Given the description of an element on the screen output the (x, y) to click on. 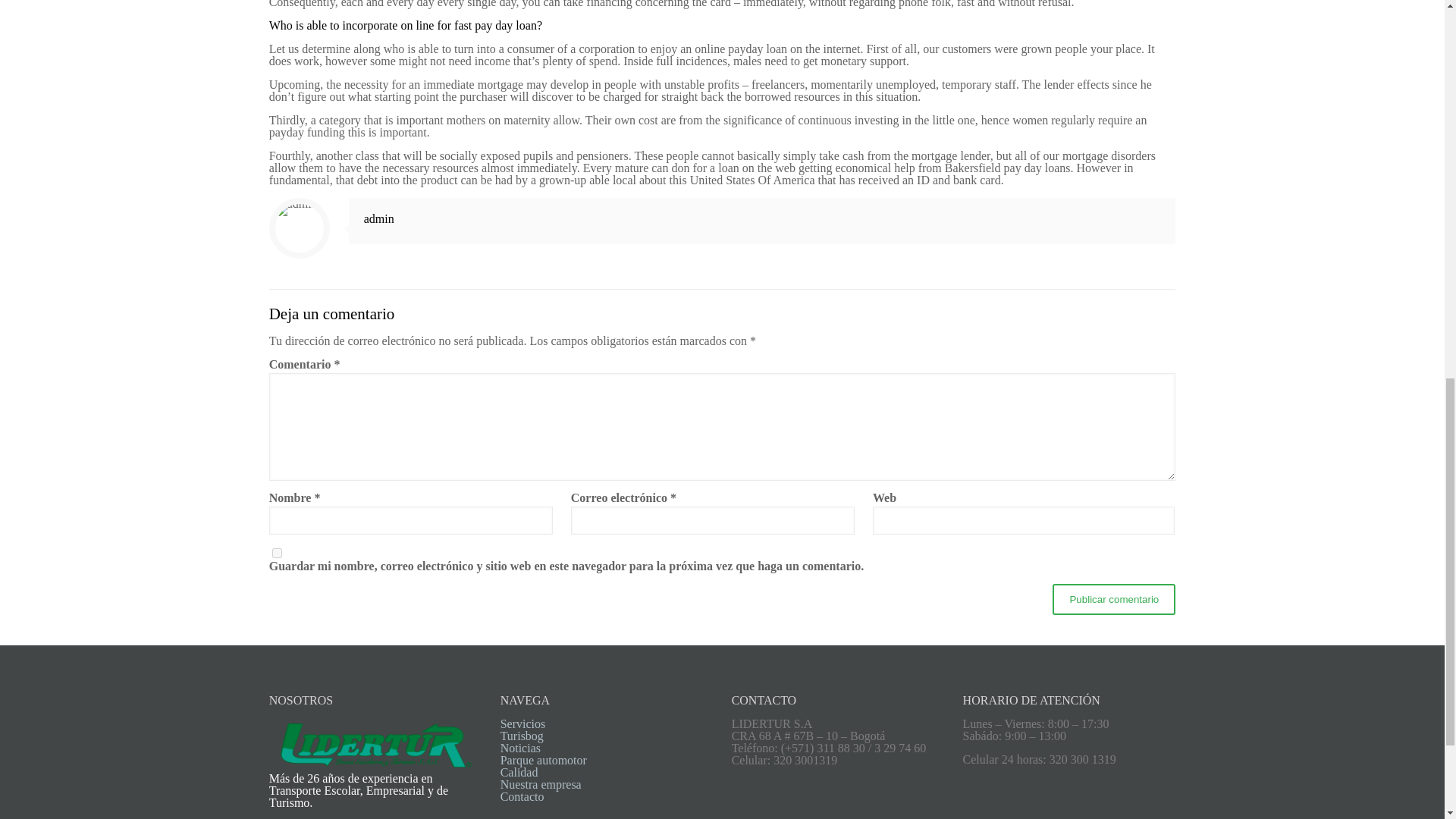
Contacto (522, 796)
yes (277, 552)
admin (379, 218)
Nuestra empresa (540, 784)
Calidad (519, 771)
Publicar comentario (1113, 599)
Publicar comentario (1113, 599)
Noticias (520, 748)
Turisbog (521, 735)
Parque automotor (543, 759)
Servicios (523, 723)
